Given the description of an element on the screen output the (x, y) to click on. 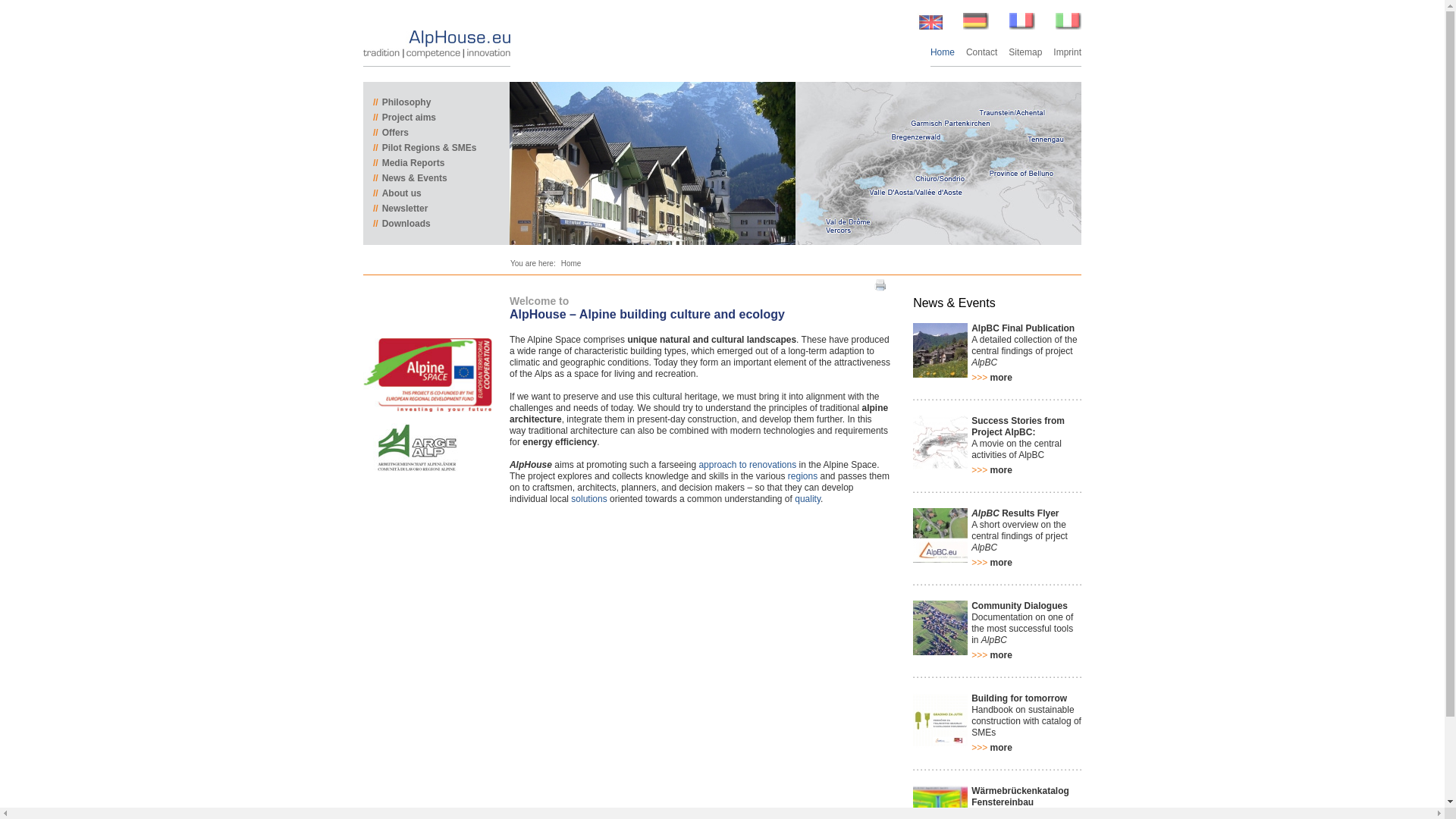
quality (807, 498)
Contact (981, 51)
regions (801, 475)
approach to renovations (747, 464)
Sitemap (1025, 51)
solutions (588, 498)
arge-alpk.jpg (415, 449)
Enter the Information Platform (937, 162)
Home (942, 51)
Imprint (1066, 51)
Home (570, 263)
